Given the description of an element on the screen output the (x, y) to click on. 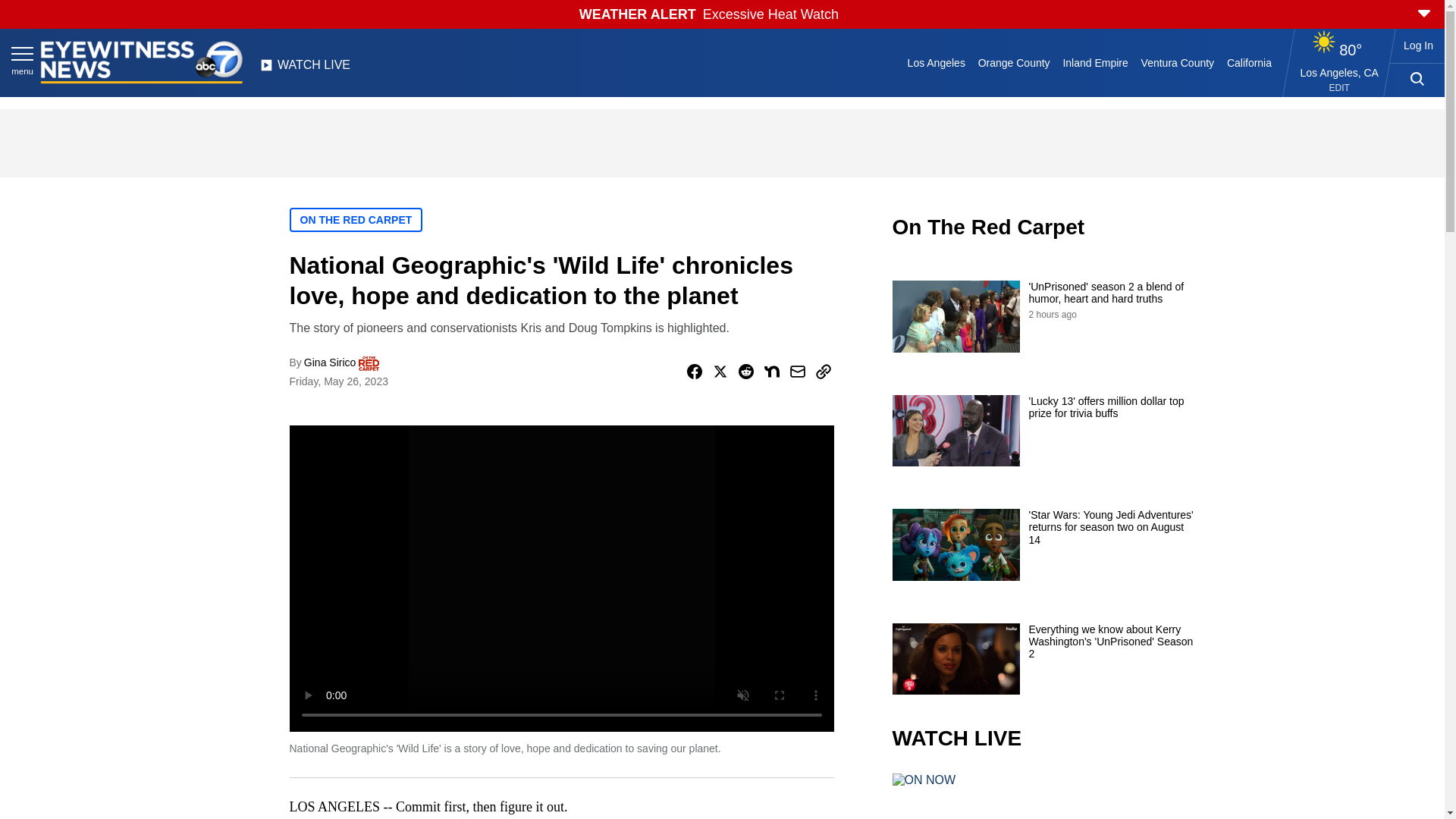
Ventura County (1177, 62)
EDIT (1339, 87)
Los Angeles, CA (1339, 72)
Los Angeles (936, 62)
Inland Empire (1095, 62)
WATCH LIVE (305, 69)
Orange County (1014, 62)
California (1249, 62)
